Given the description of an element on the screen output the (x, y) to click on. 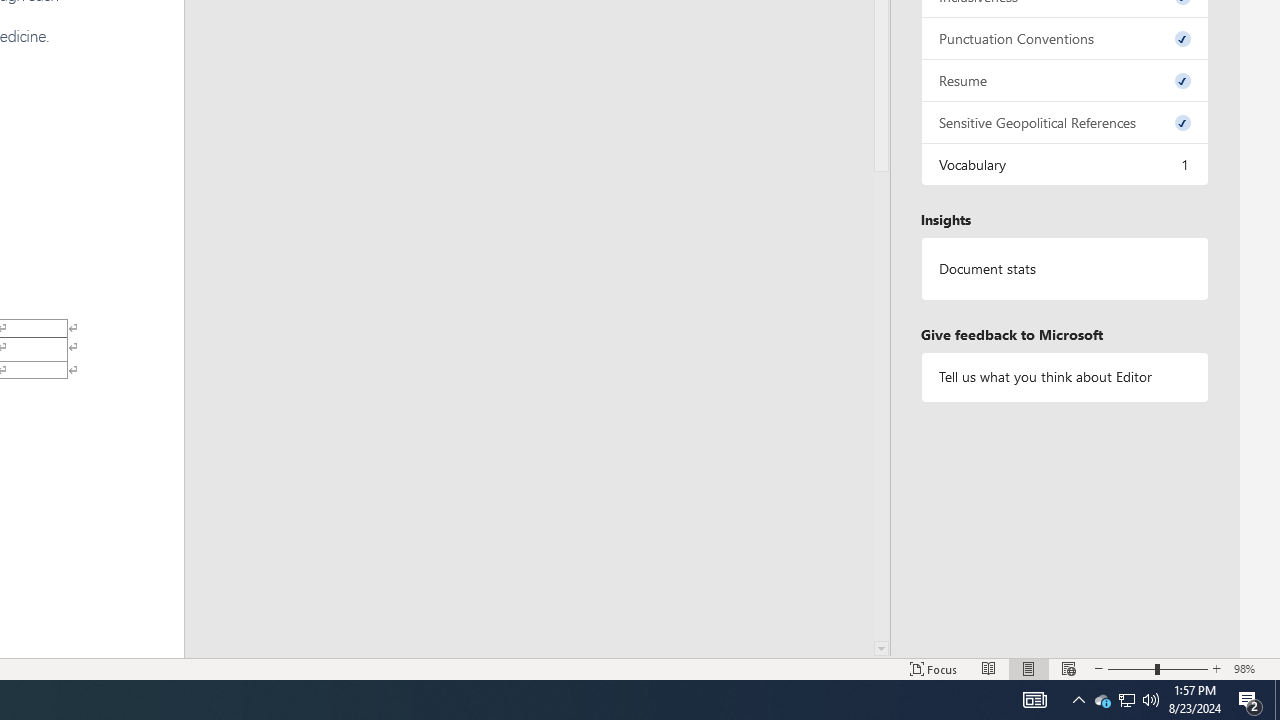
Document statistics (1064, 269)
Print Layout (1028, 668)
Zoom Out (1131, 668)
Read Mode (988, 668)
Resume, 0 issues. Press space or enter to review items. (1064, 79)
Vocabulary, 1 issue. Press space or enter to review items. (1064, 164)
Zoom In (1217, 668)
Web Layout (1069, 668)
Focus  (934, 668)
Zoom (1158, 668)
Tell us what you think about Editor (1064, 376)
